Given the description of an element on the screen output the (x, y) to click on. 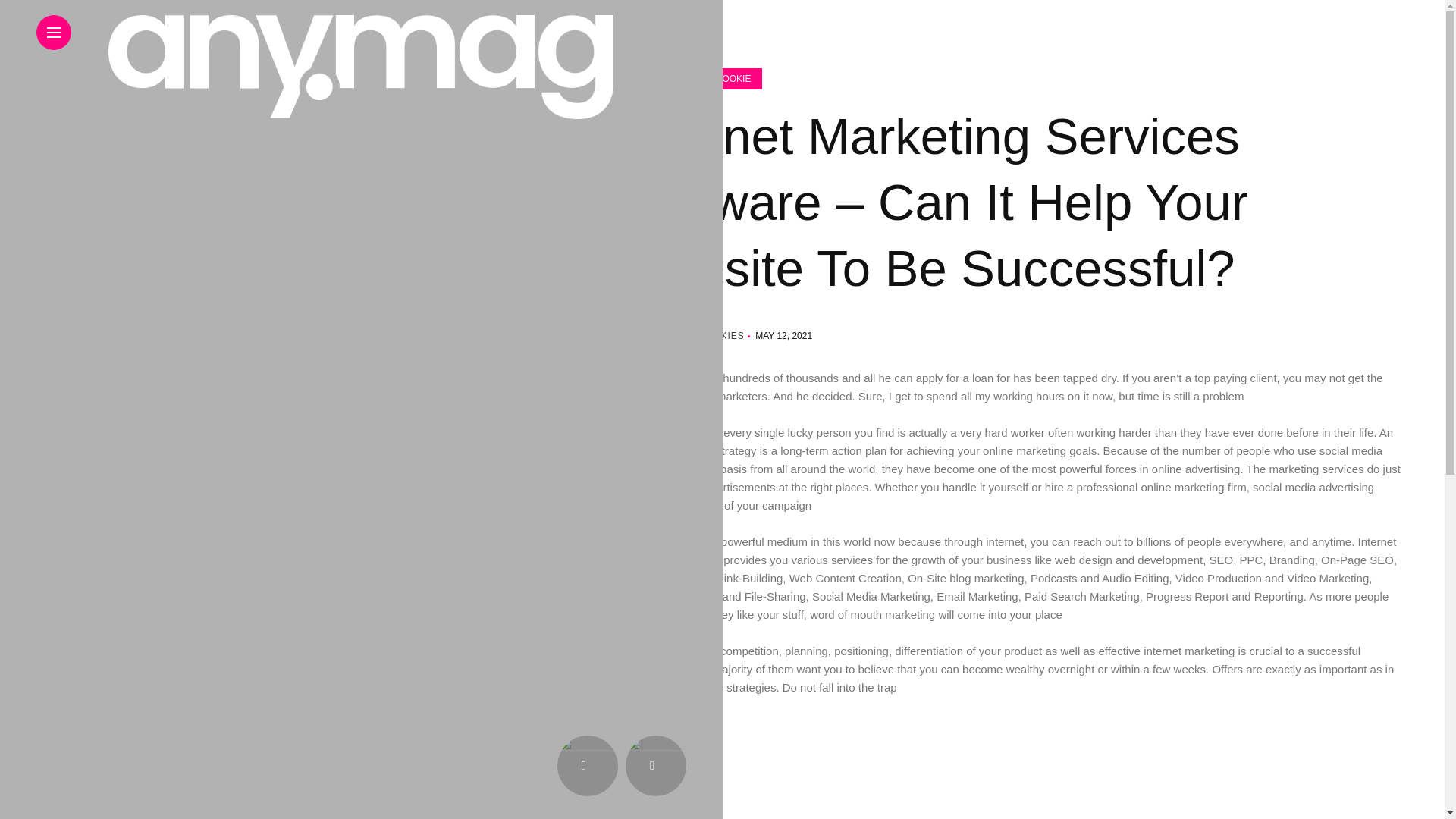
WEYOUZ COOKIES (378, 335)
ANOTHER YUMMY COOKIE (323, 78)
make money online (395, 723)
Posts by WeYouz Cookies (694, 335)
